Given the description of an element on the screen output the (x, y) to click on. 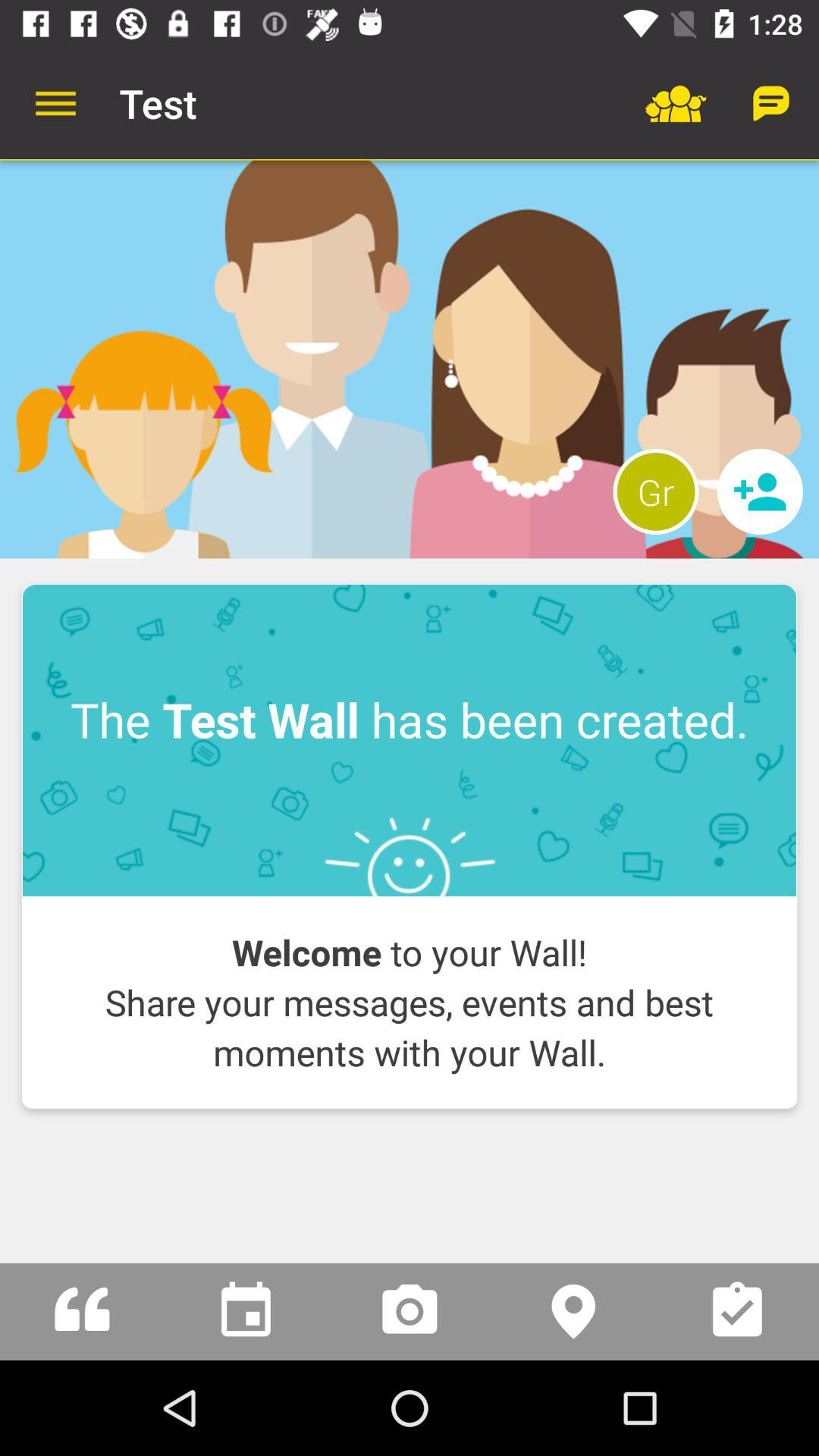
turn on item above welcome to your icon (409, 740)
